Given the description of an element on the screen output the (x, y) to click on. 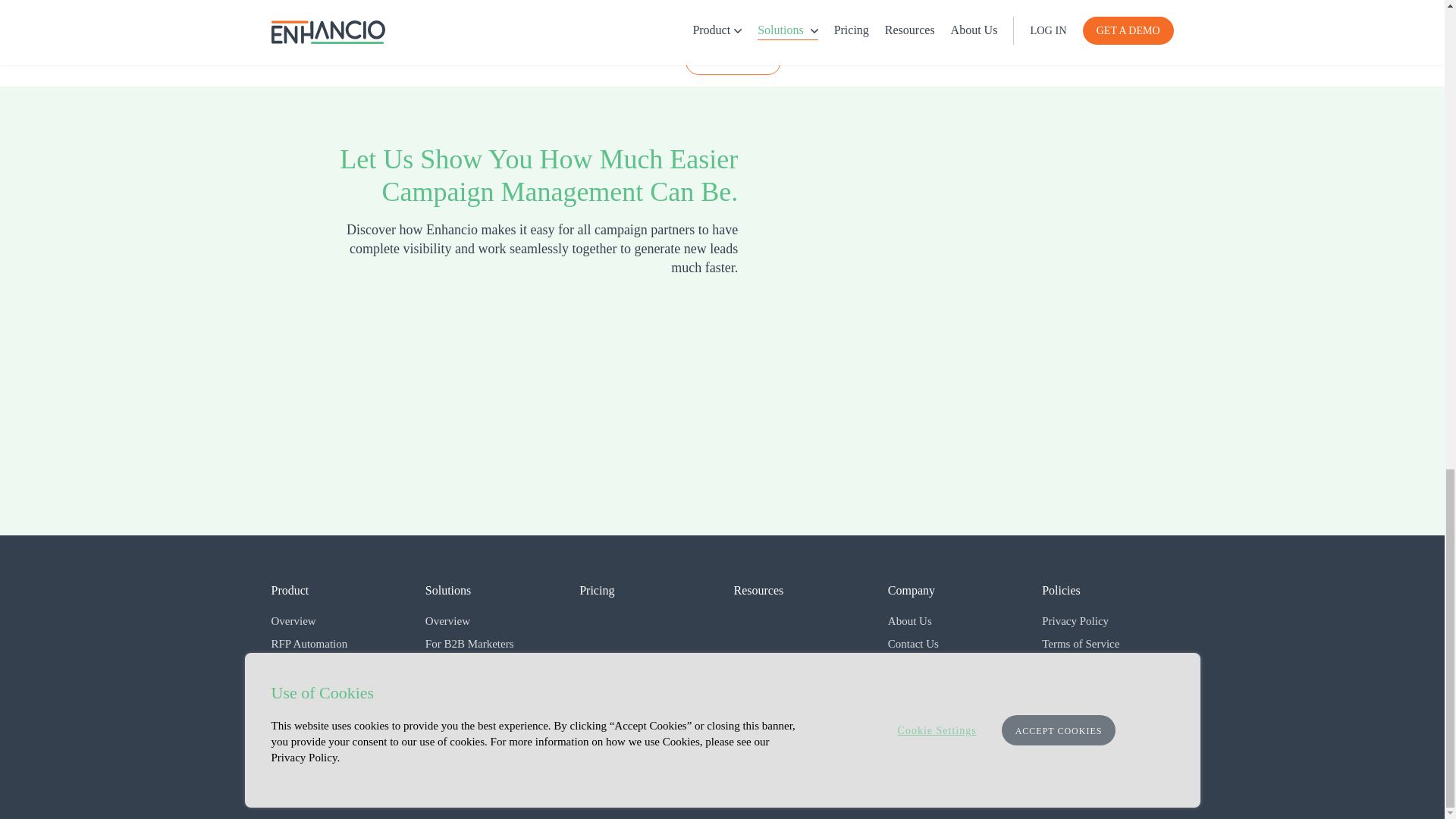
For Agencies (490, 666)
RFP Automation (336, 644)
For Publishers (490, 689)
Measure Performance (336, 712)
Overview (336, 621)
Pricing (596, 590)
Privacy Policy (1107, 621)
About Us (953, 621)
Lead Automation (336, 689)
LEARN MORE (732, 61)
